Given the description of an element on the screen output the (x, y) to click on. 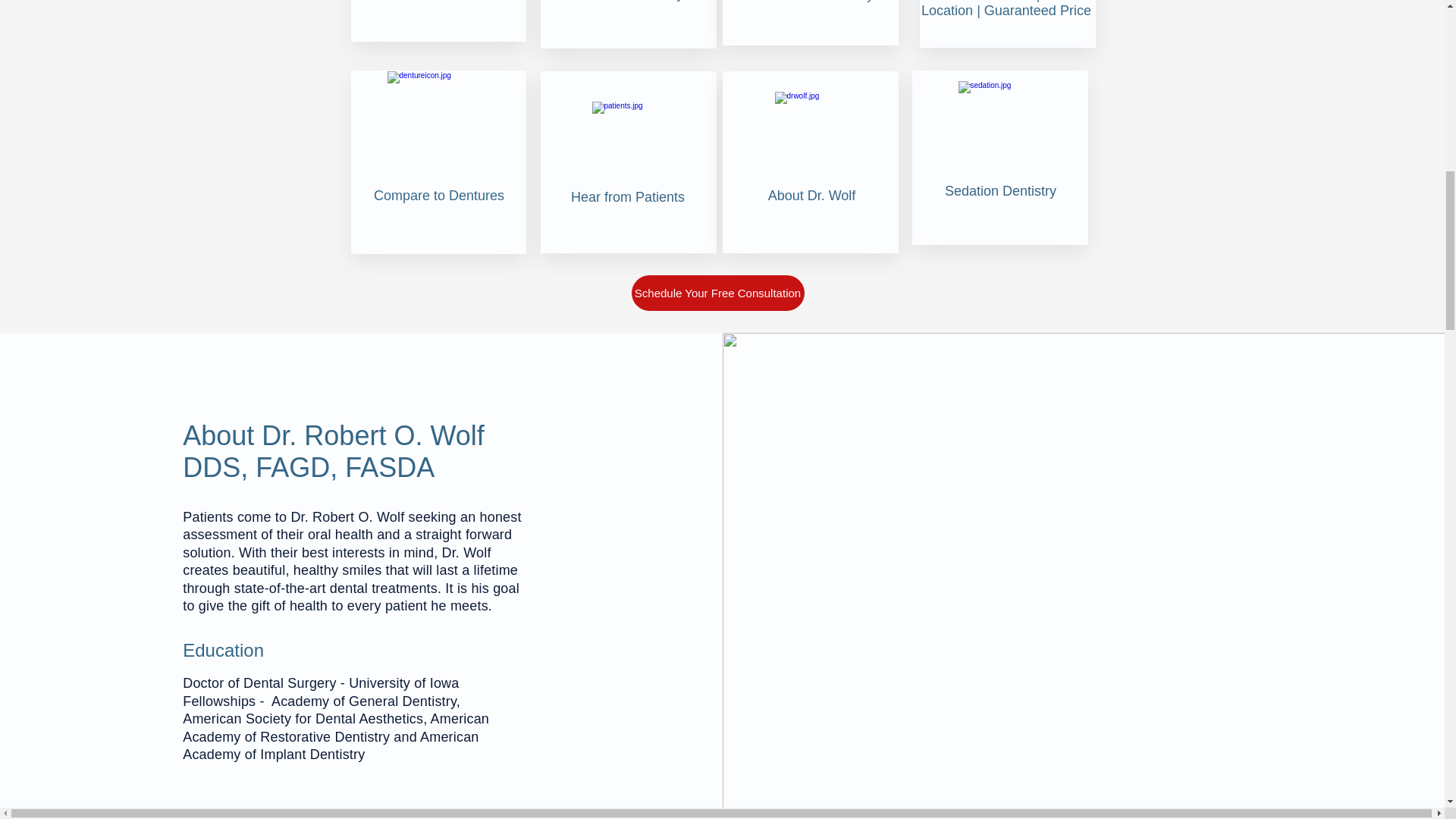
Compare to Dentures (438, 195)
Sedation Dentistry (1000, 191)
Hear from Patients (627, 196)
Restorative Dentistry (809, 1)
Cosmetic Dentistry (625, 0)
Schedule Your Free Consultation (716, 293)
About Dr. Wolf (812, 195)
